Given the description of an element on the screen output the (x, y) to click on. 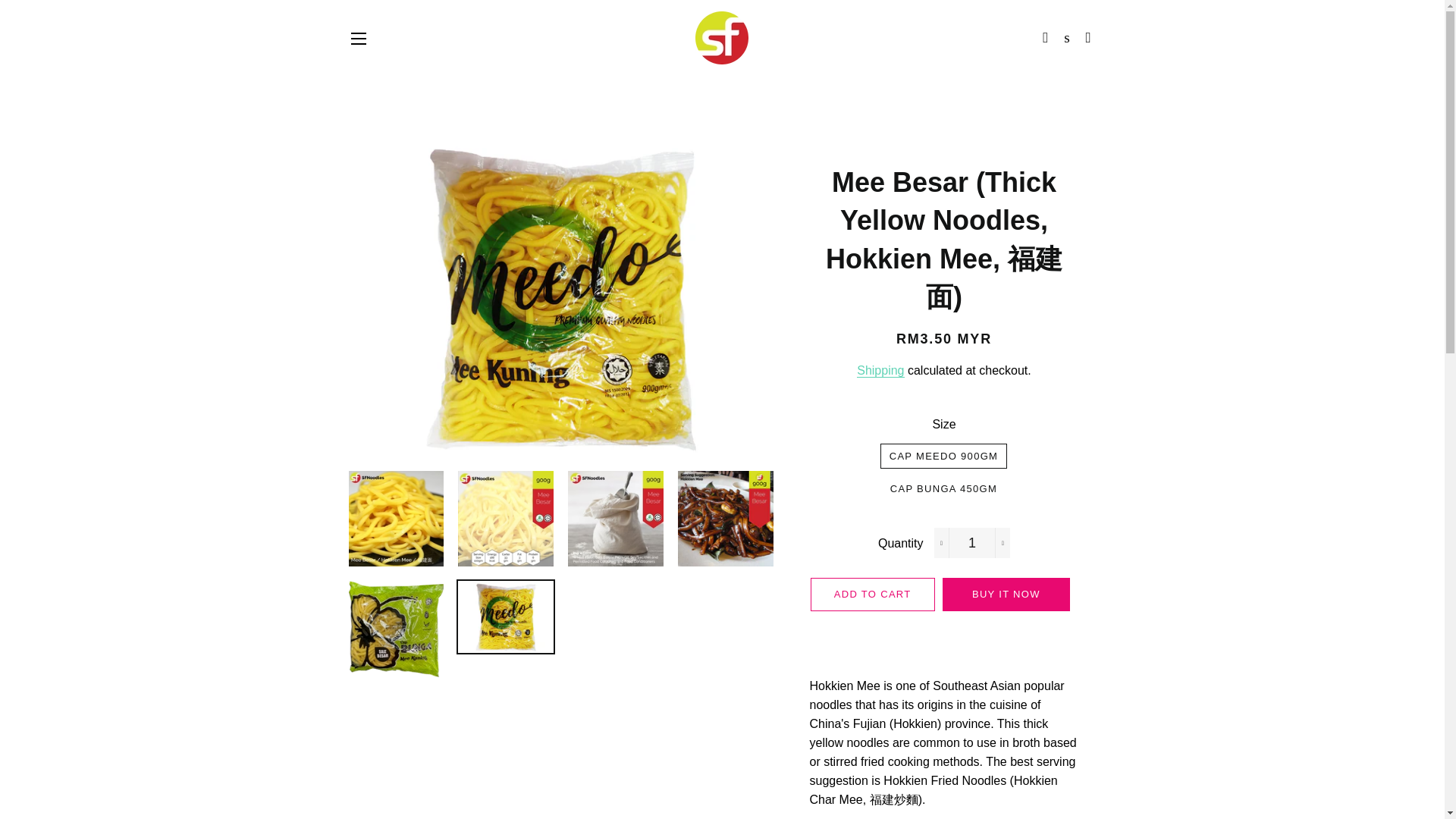
Shipping (880, 370)
SITE NAVIGATION (358, 38)
Chinese language text (893, 799)
1 (972, 542)
